Given the description of an element on the screen output the (x, y) to click on. 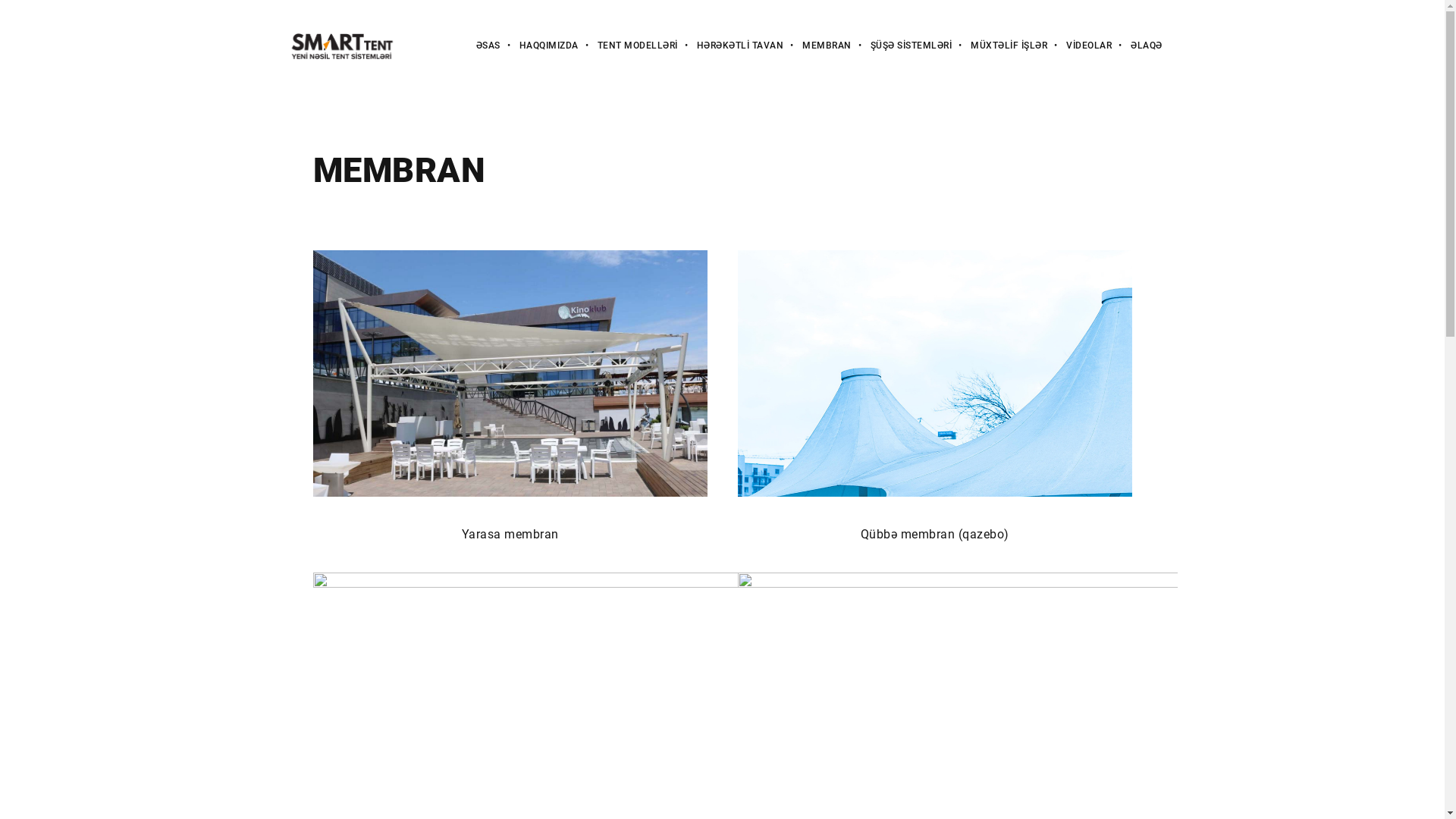
VIDEOLAR Element type: text (1079, 45)
MEMBRAN Element type: text (817, 45)
HAQQIMIZDA Element type: text (539, 45)
